Given the description of an element on the screen output the (x, y) to click on. 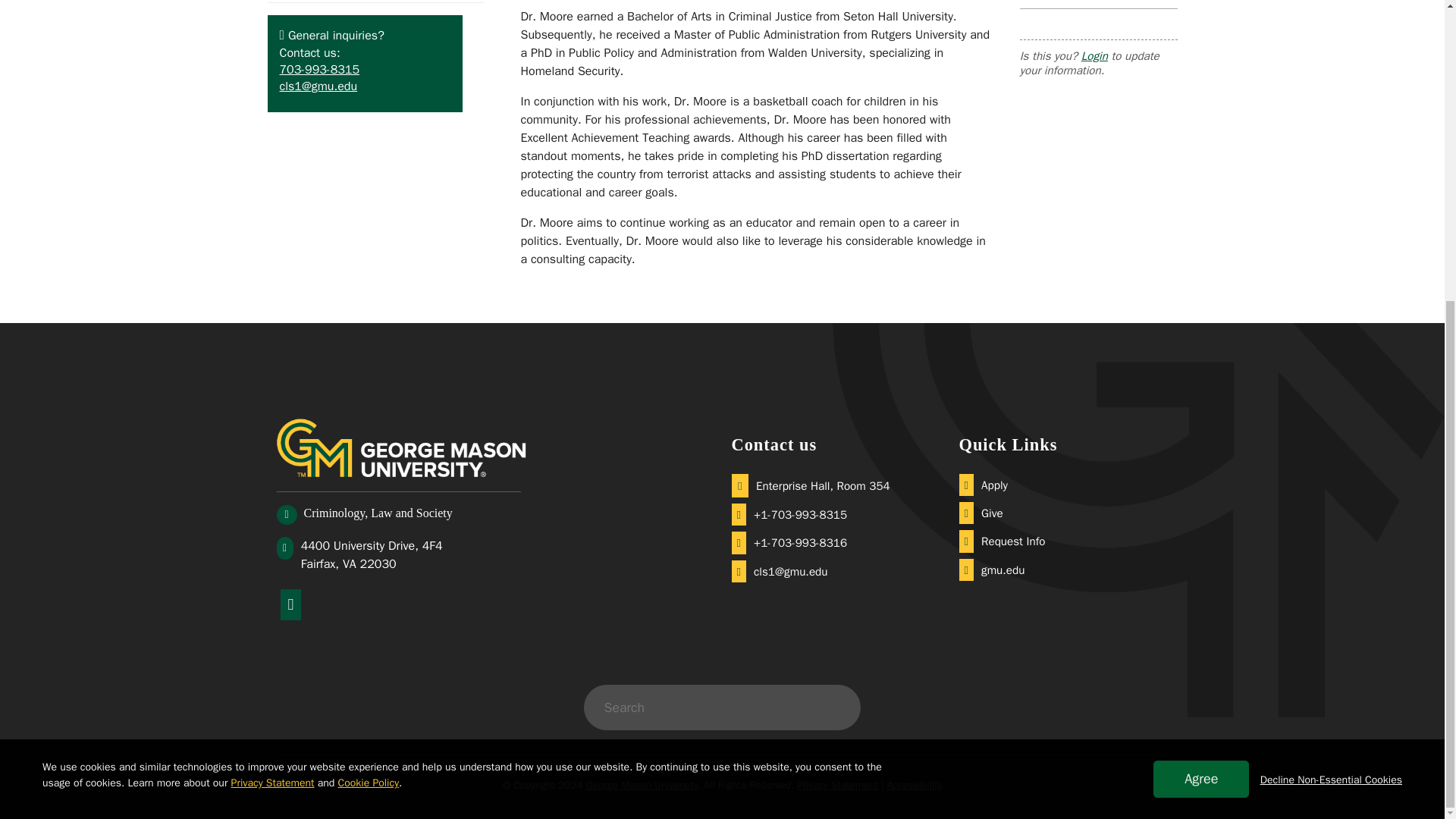
George Mason University Cookie Policy (367, 314)
Cookie Policy (367, 314)
Privacy Statement (272, 314)
Agree (1201, 310)
George Mason University Privacy Statement (272, 314)
Decline Non-Essential Cookies (1331, 311)
